Given the description of an element on the screen output the (x, y) to click on. 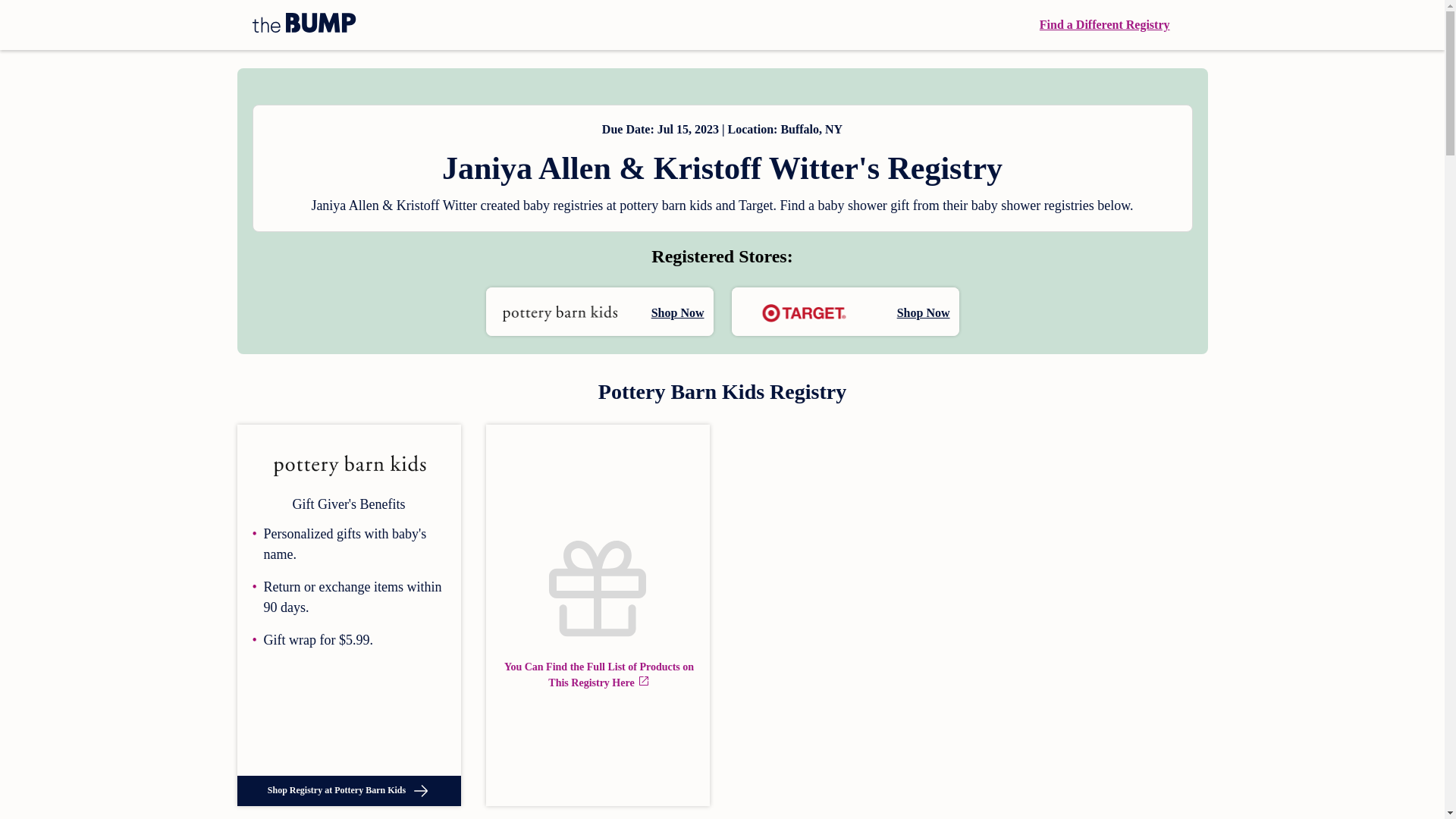
Shop Registry at Pottery Barn Kids (347, 790)
Shop Now (844, 311)
Shop Now (598, 311)
Find a Different Registry (1104, 24)
